Given the description of an element on the screen output the (x, y) to click on. 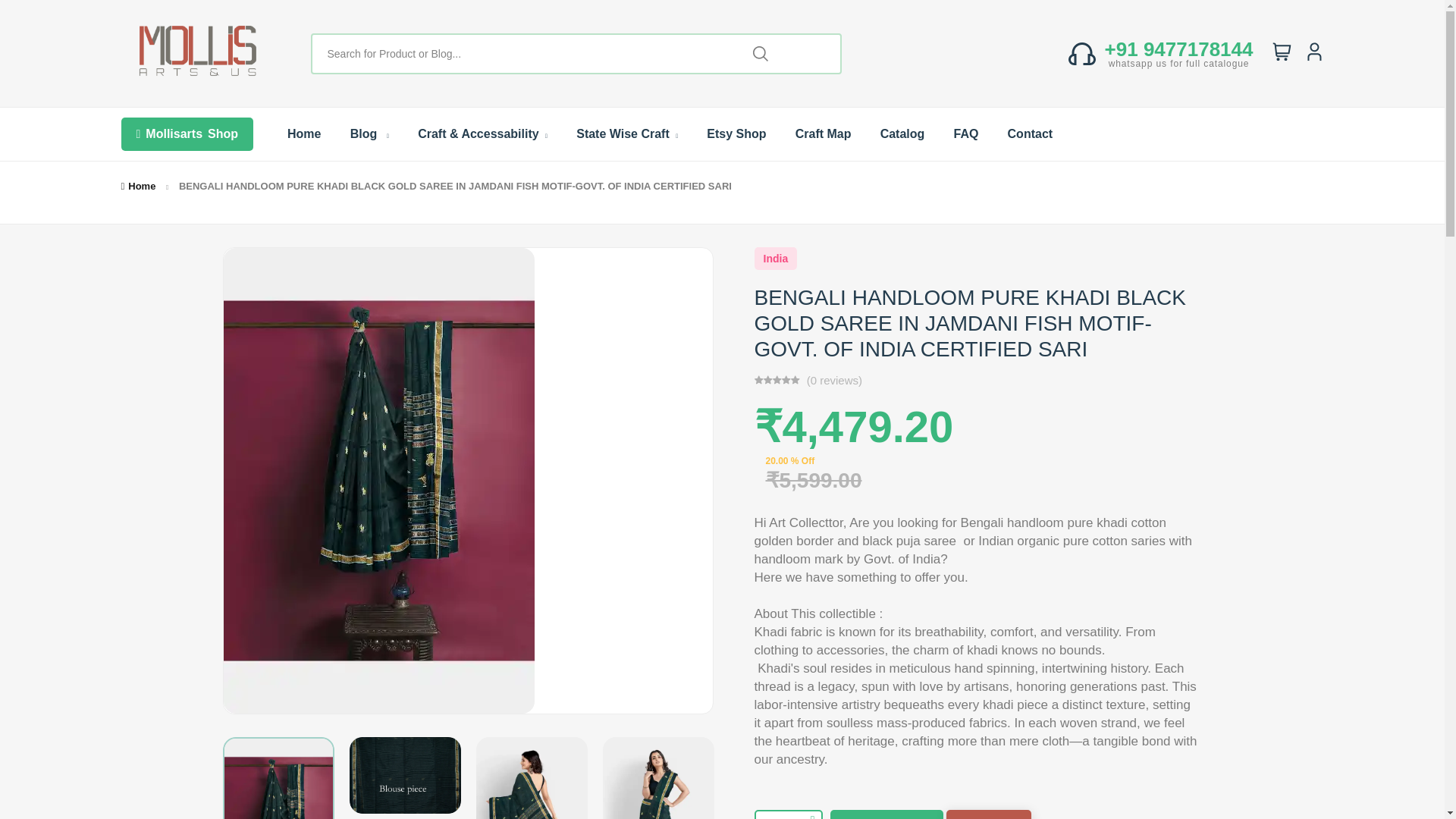
State Wise Craft  (627, 133)
